Given the description of an element on the screen output the (x, y) to click on. 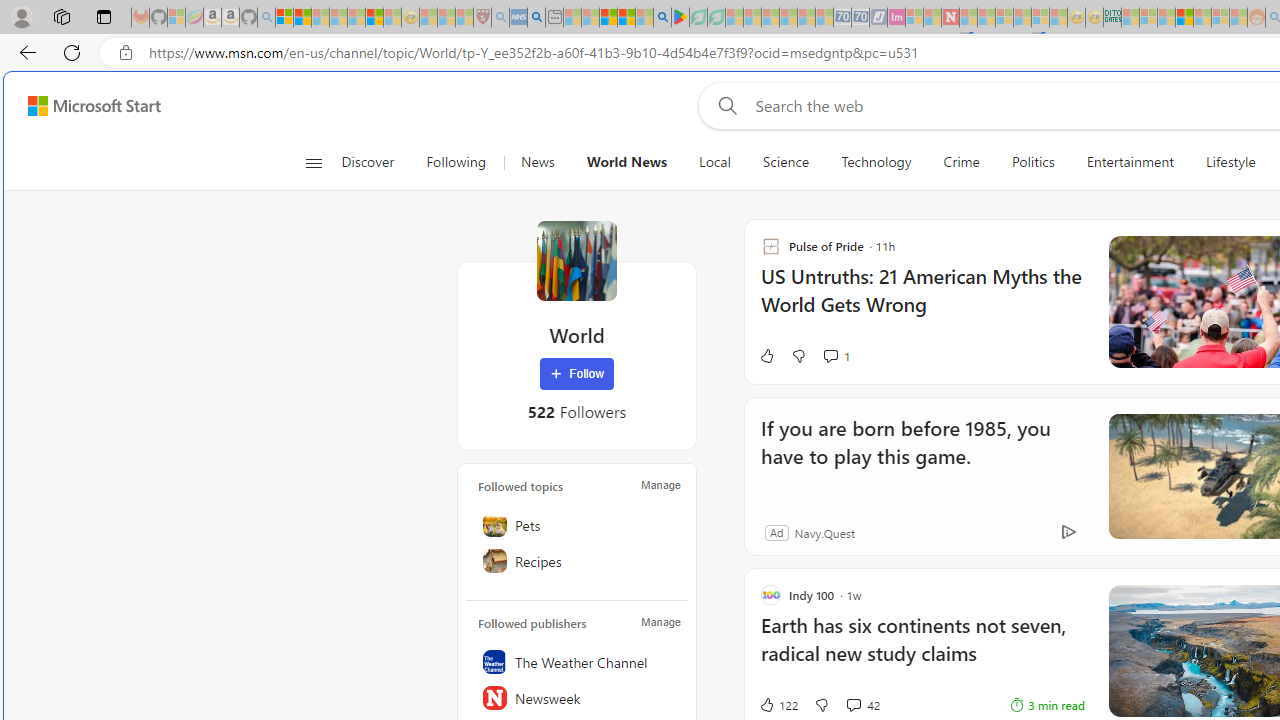
Newsweek (577, 697)
